Given the description of an element on the screen output the (x, y) to click on. 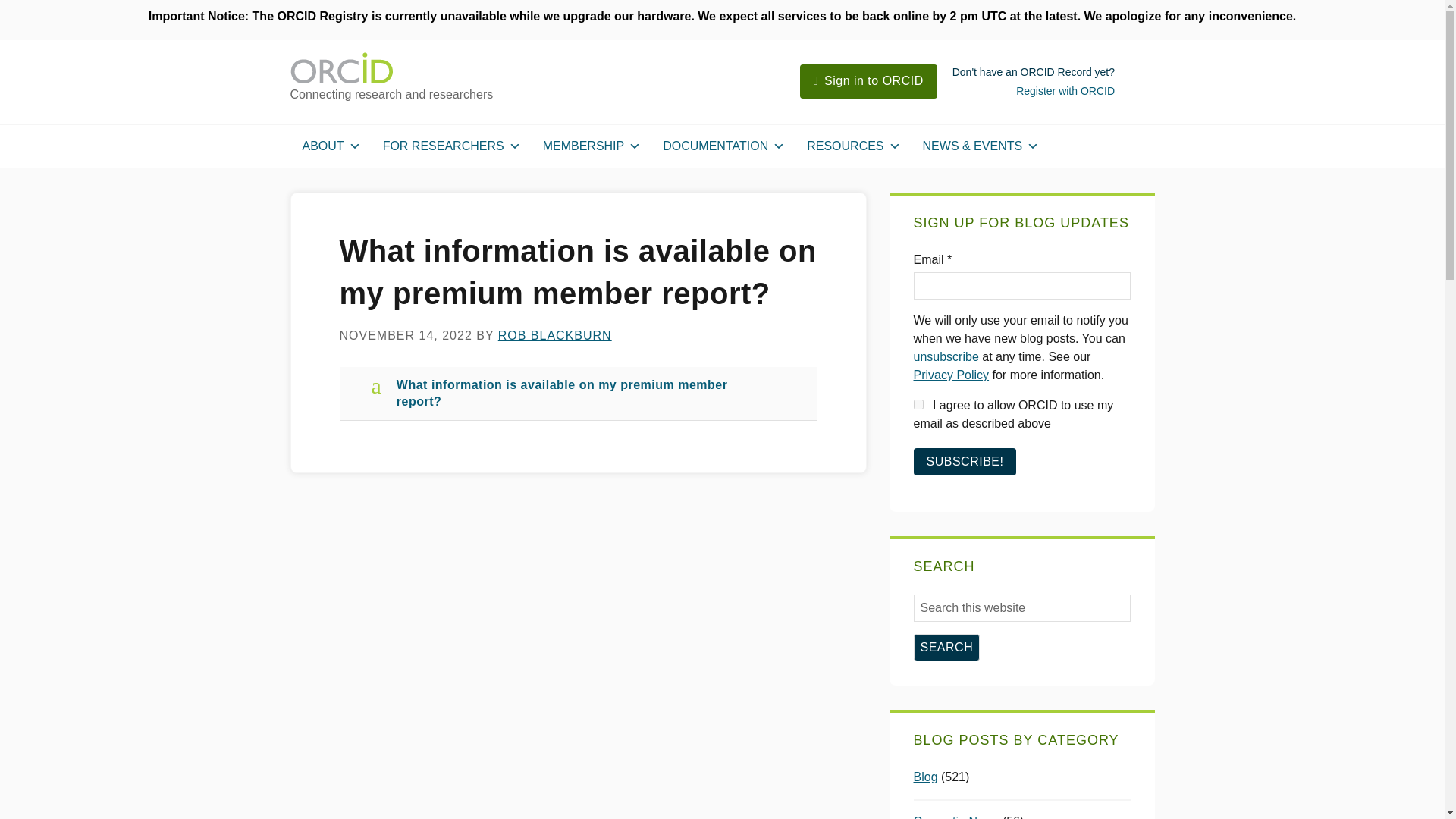
Subscribe! (964, 461)
1 (917, 404)
Register with ORCID (1065, 91)
ABOUT (335, 146)
Email (1020, 285)
Search (945, 646)
ORCID (418, 68)
Sign in to ORCID (873, 80)
Search (945, 646)
